Given the description of an element on the screen output the (x, y) to click on. 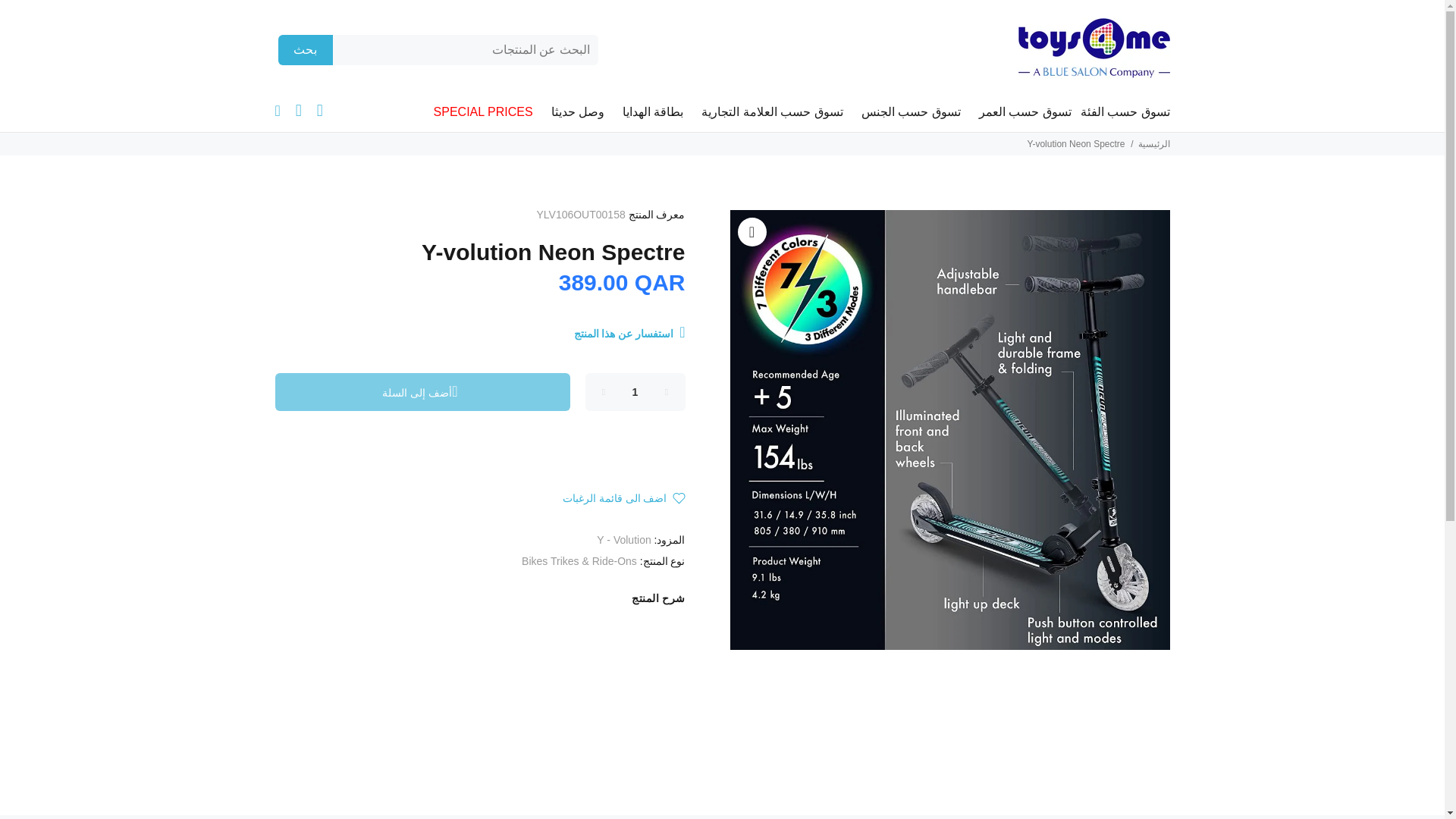
Y - Volution (623, 539)
1 (635, 392)
